Given the description of an element on the screen output the (x, y) to click on. 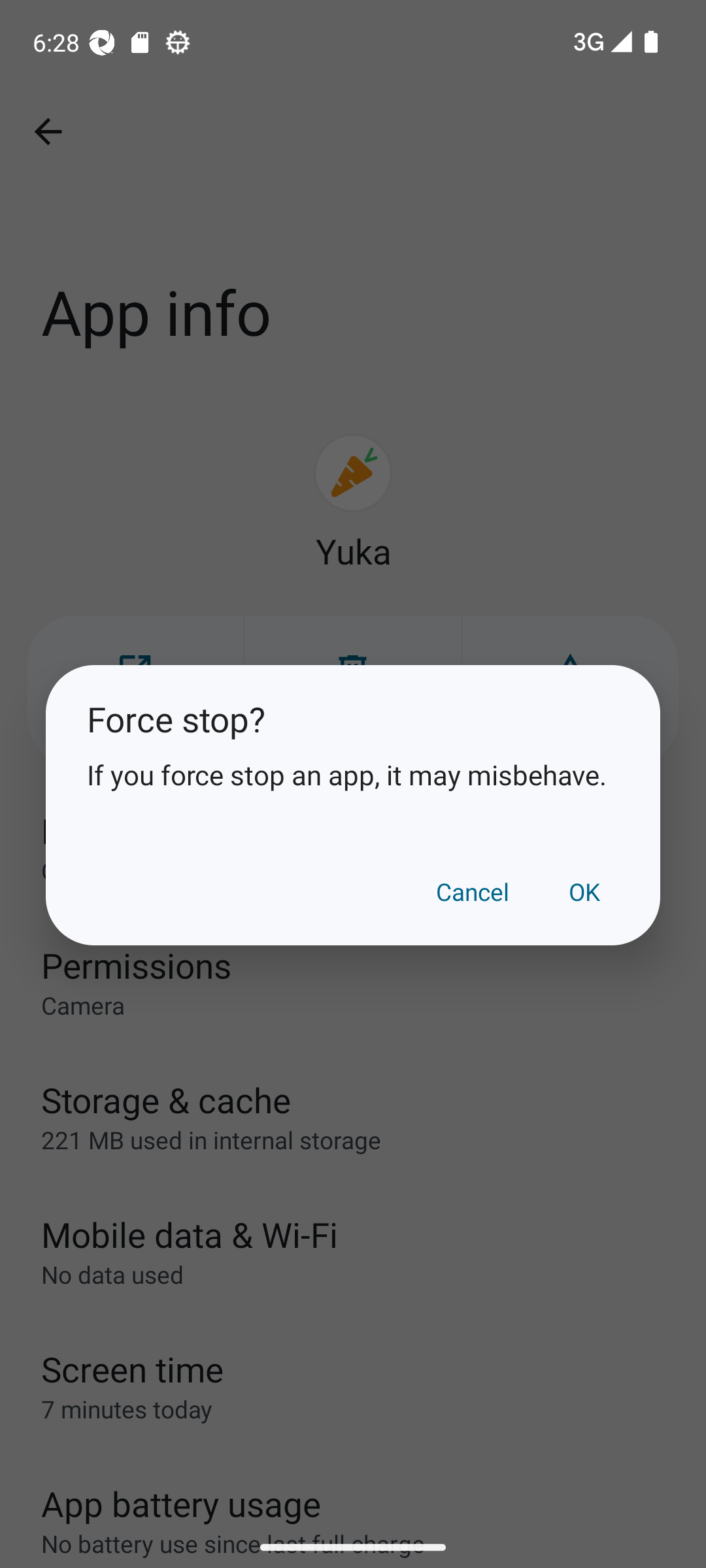
Cancel (472, 891)
OK (584, 891)
